Given the description of an element on the screen output the (x, y) to click on. 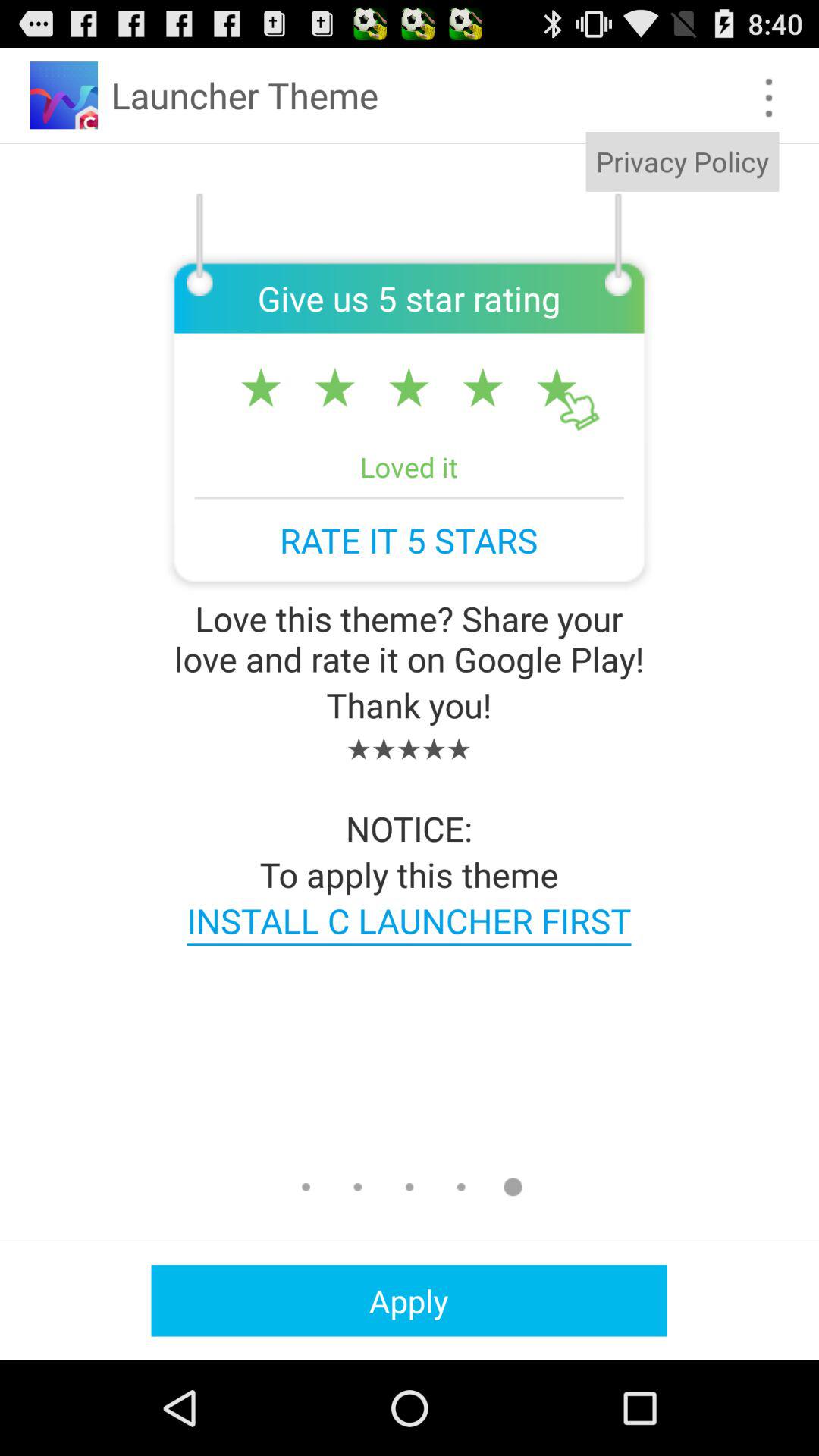
choose the install c launcher item (409, 920)
